Given the description of an element on the screen output the (x, y) to click on. 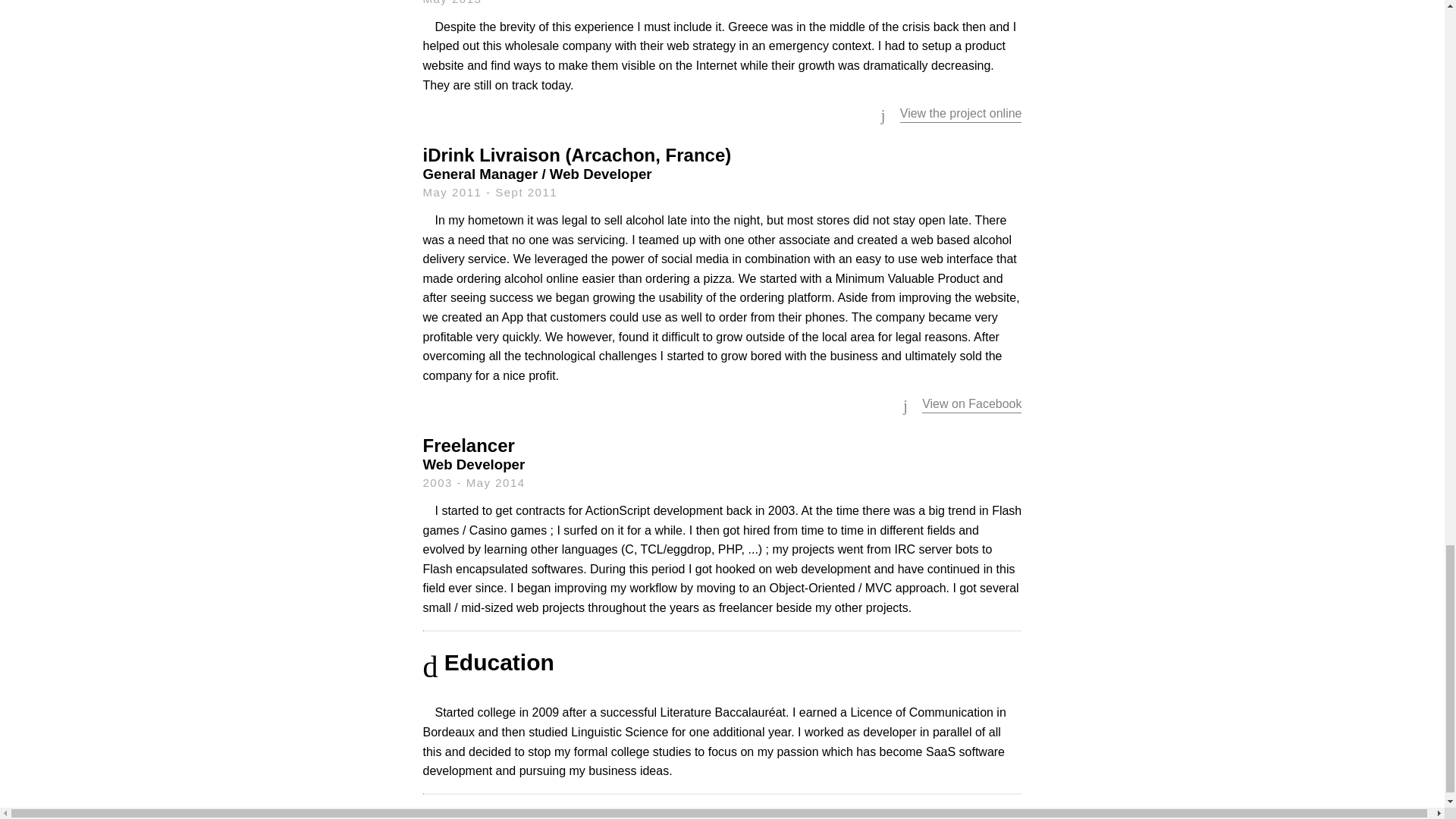
View on Facebook (971, 403)
View the project online (960, 113)
